Given the description of an element on the screen output the (x, y) to click on. 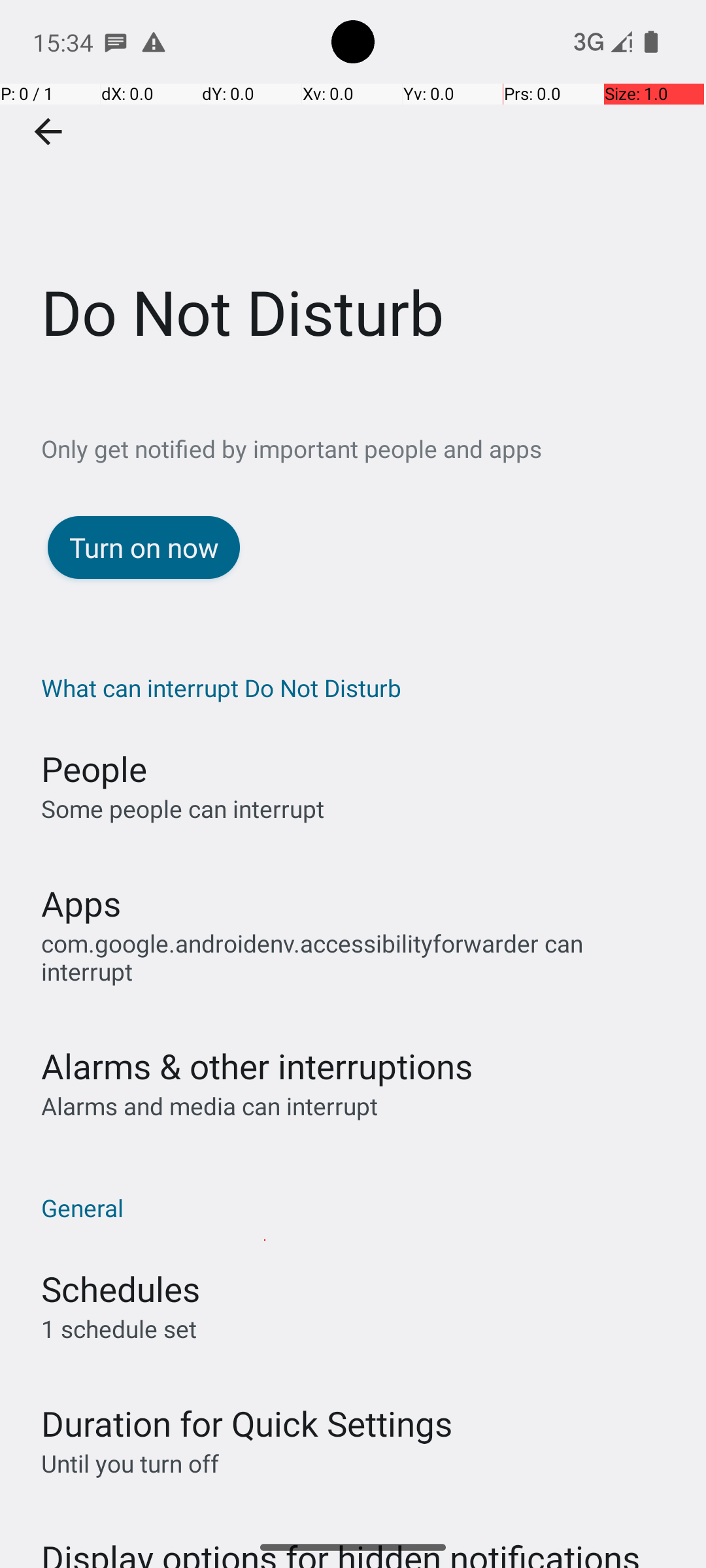
Do Not Disturb Element type: android.widget.FrameLayout (353, 195)
Only get notified by important people and apps Element type: android.widget.TextView (373, 448)
Turn on now Element type: android.widget.Button (143, 547)
What can interrupt Do Not Disturb Element type: android.widget.TextView (359, 687)
People Element type: android.widget.TextView (94, 768)
Some people can interrupt Element type: android.widget.TextView (182, 808)
com.google.androidenv.accessibilityforwarder can interrupt Element type: android.widget.TextView (359, 956)
Alarms & other interruptions Element type: android.widget.TextView (256, 1042)
Alarms and media can interrupt Element type: android.widget.TextView (209, 1081)
Schedules Element type: android.widget.TextView (120, 1264)
1 schedule set Element type: android.widget.TextView (118, 1304)
Duration for Quick Settings Element type: android.widget.TextView (246, 1399)
Until you turn off Element type: android.widget.TextView (129, 1439)
Display options for hidden notifications Element type: android.widget.TextView (340, 1518)
